Given the description of an element on the screen output the (x, y) to click on. 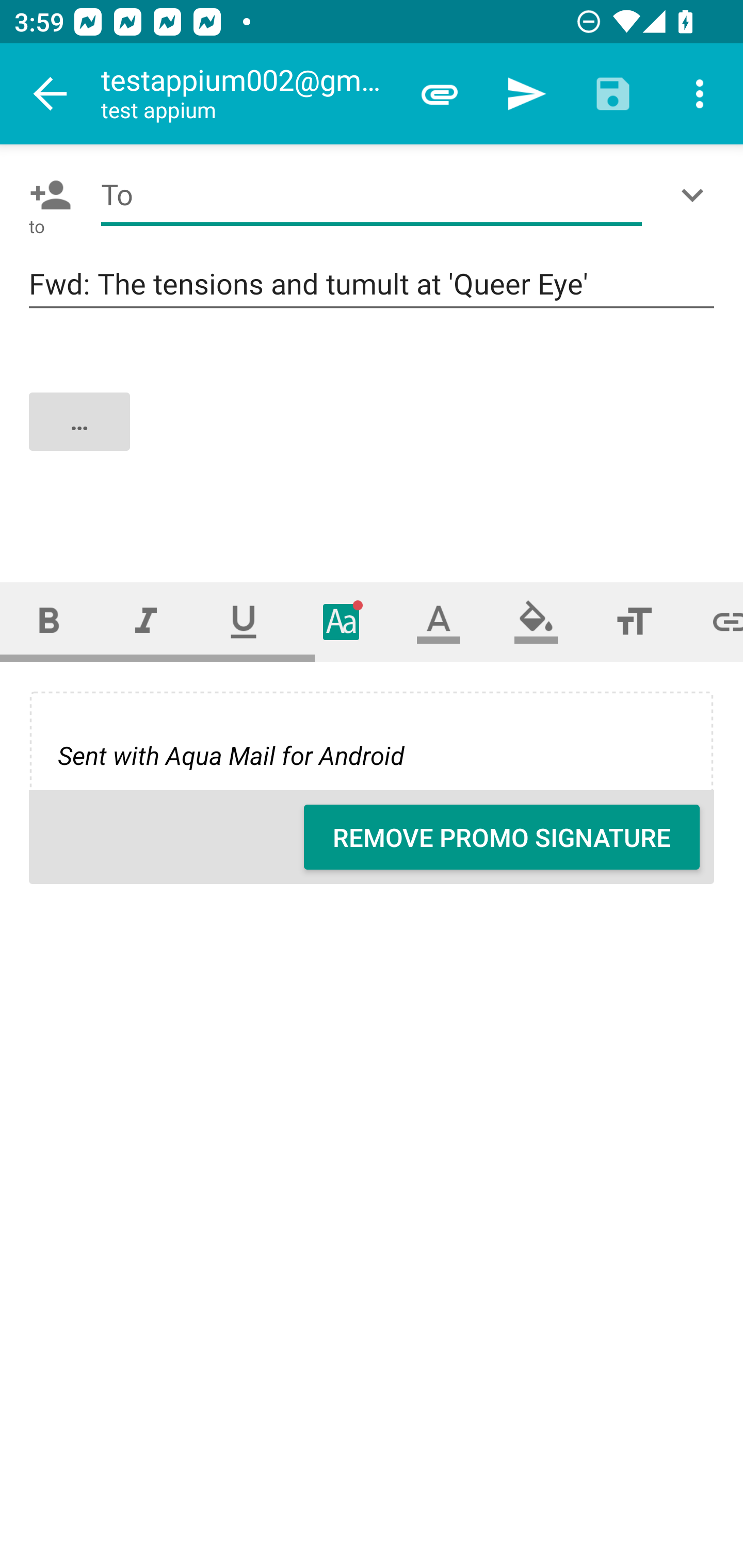
Navigate up (50, 93)
testappium002@gmail.com test appium (248, 93)
Attach (439, 93)
Send (525, 93)
Save (612, 93)
More options (699, 93)
Pick contact: To (46, 195)
Show/Add CC/BCC (696, 195)
To (371, 195)
Fwd: The tensions and tumult at 'Queer Eye' (371, 284)

…
 (372, 438)
Bold (48, 621)
Italic (145, 621)
Underline (243, 621)
Typeface (font) (341, 621)
Text color (438, 621)
Fill color (536, 621)
Font size (633, 621)
REMOVE PROMO SIGNATURE (501, 837)
